Given the description of an element on the screen output the (x, y) to click on. 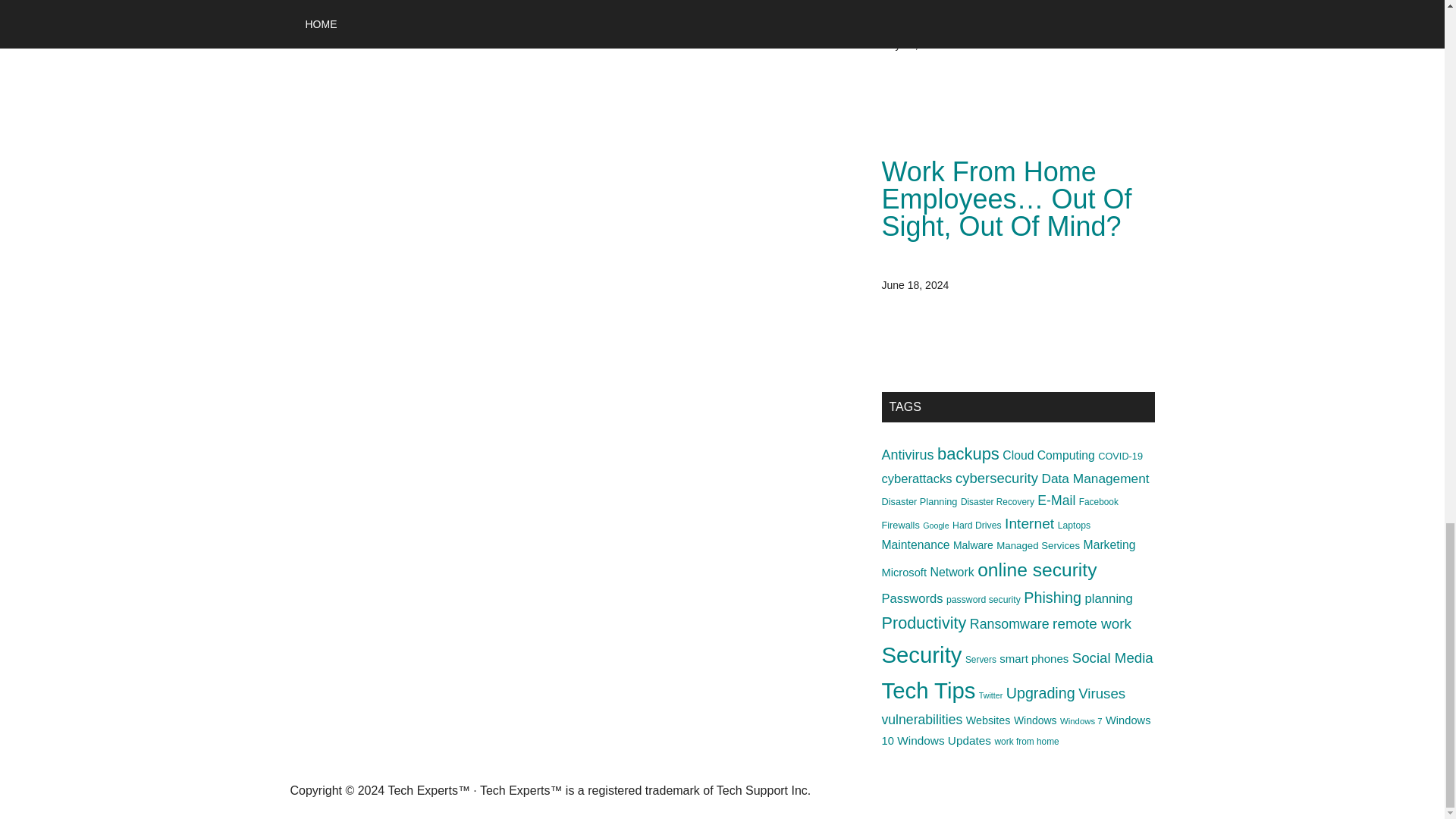
backups (967, 453)
cyberattacks (916, 478)
cybersecurity (996, 478)
Cloud Computing (1048, 454)
Disaster Planning (918, 501)
Data Management (1094, 478)
COVID-19 (1119, 455)
Antivirus (906, 454)
